Given the description of an element on the screen output the (x, y) to click on. 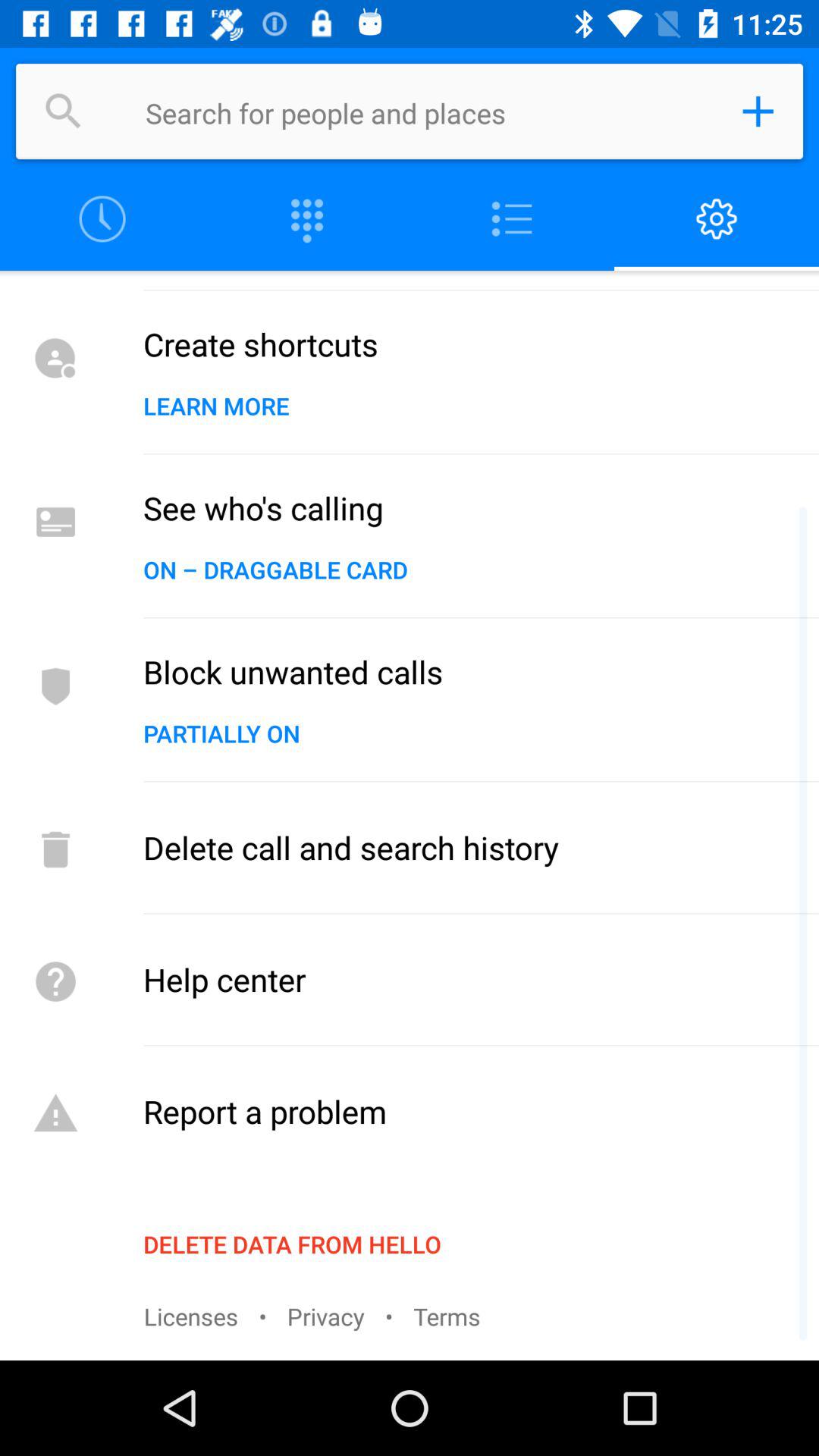
choose the delete data from (292, 1244)
